Given the description of an element on the screen output the (x, y) to click on. 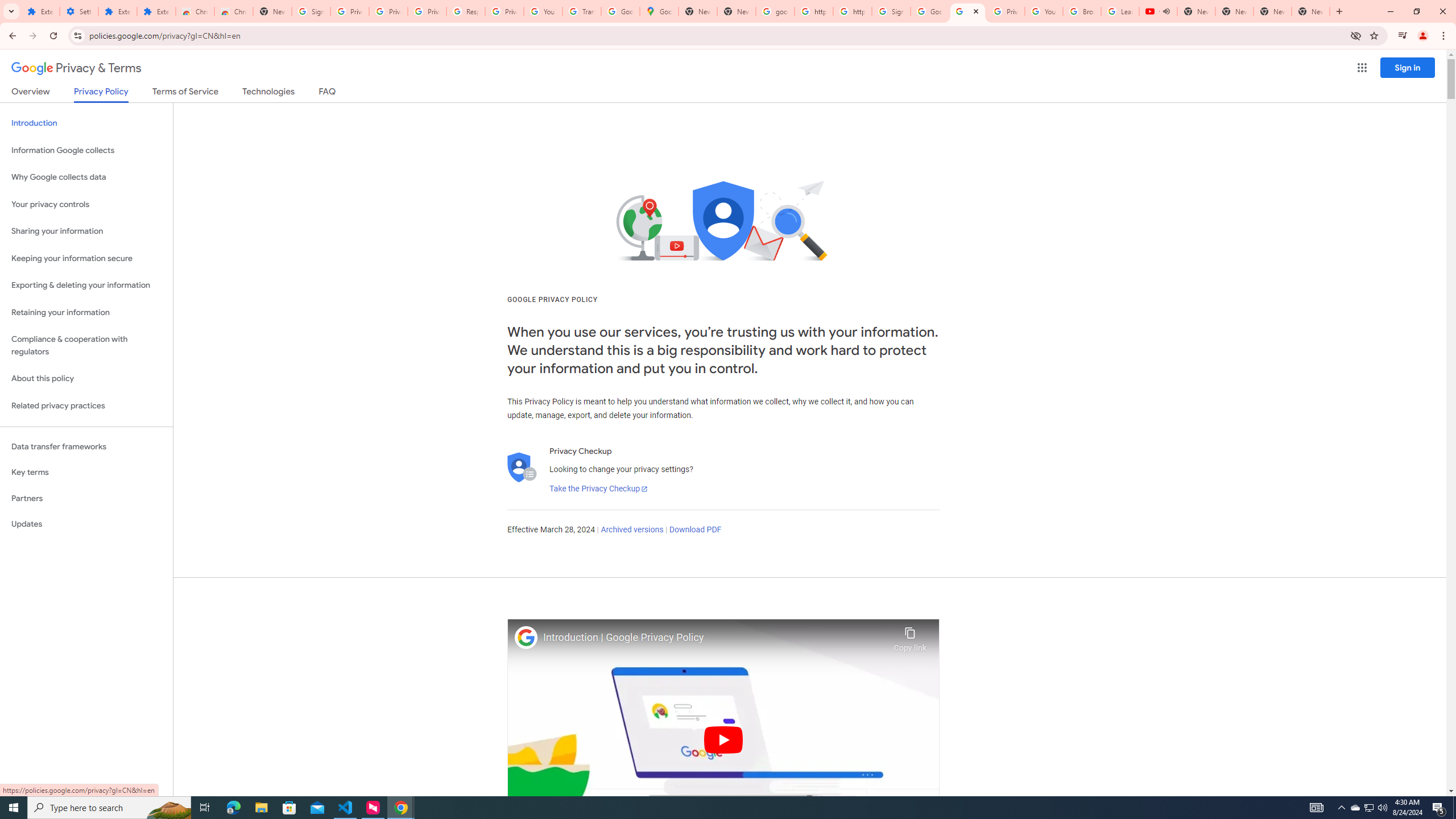
Sign in - Google Accounts (890, 11)
Introduction | Google Privacy Policy (715, 637)
YouTube (1043, 11)
Download PDF (695, 529)
Extensions (117, 11)
Related privacy practices (86, 405)
New Tab (1311, 11)
